Given the description of an element on the screen output the (x, y) to click on. 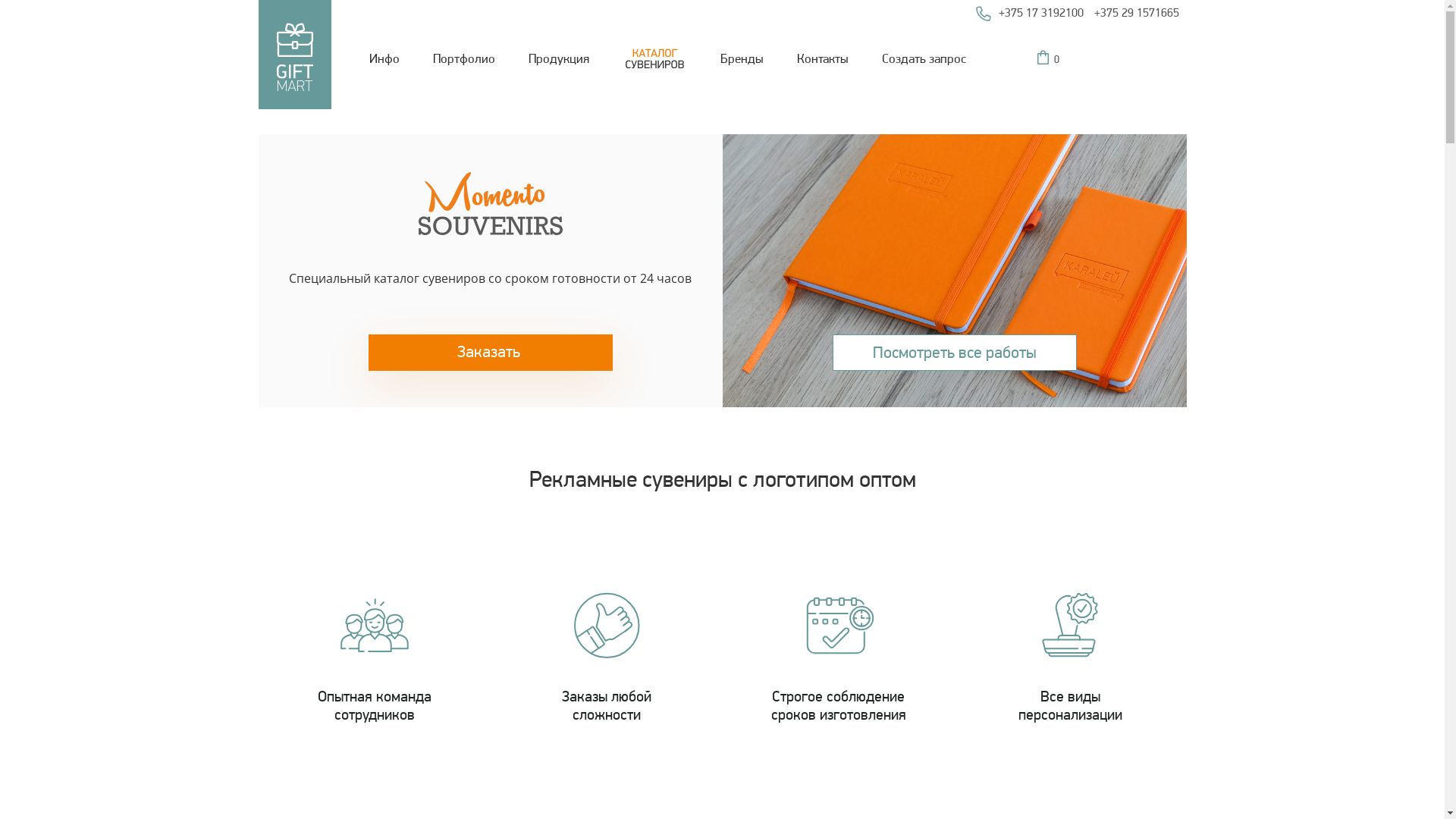
Skip to main navigation Element type: text (0, 0)
0 Element type: text (1052, 56)
Home Element type: hover (293, 8)
+375 17 3192100 Element type: text (1039, 12)
+375 29 1571665 Element type: text (1135, 12)
